Given the description of an element on the screen output the (x, y) to click on. 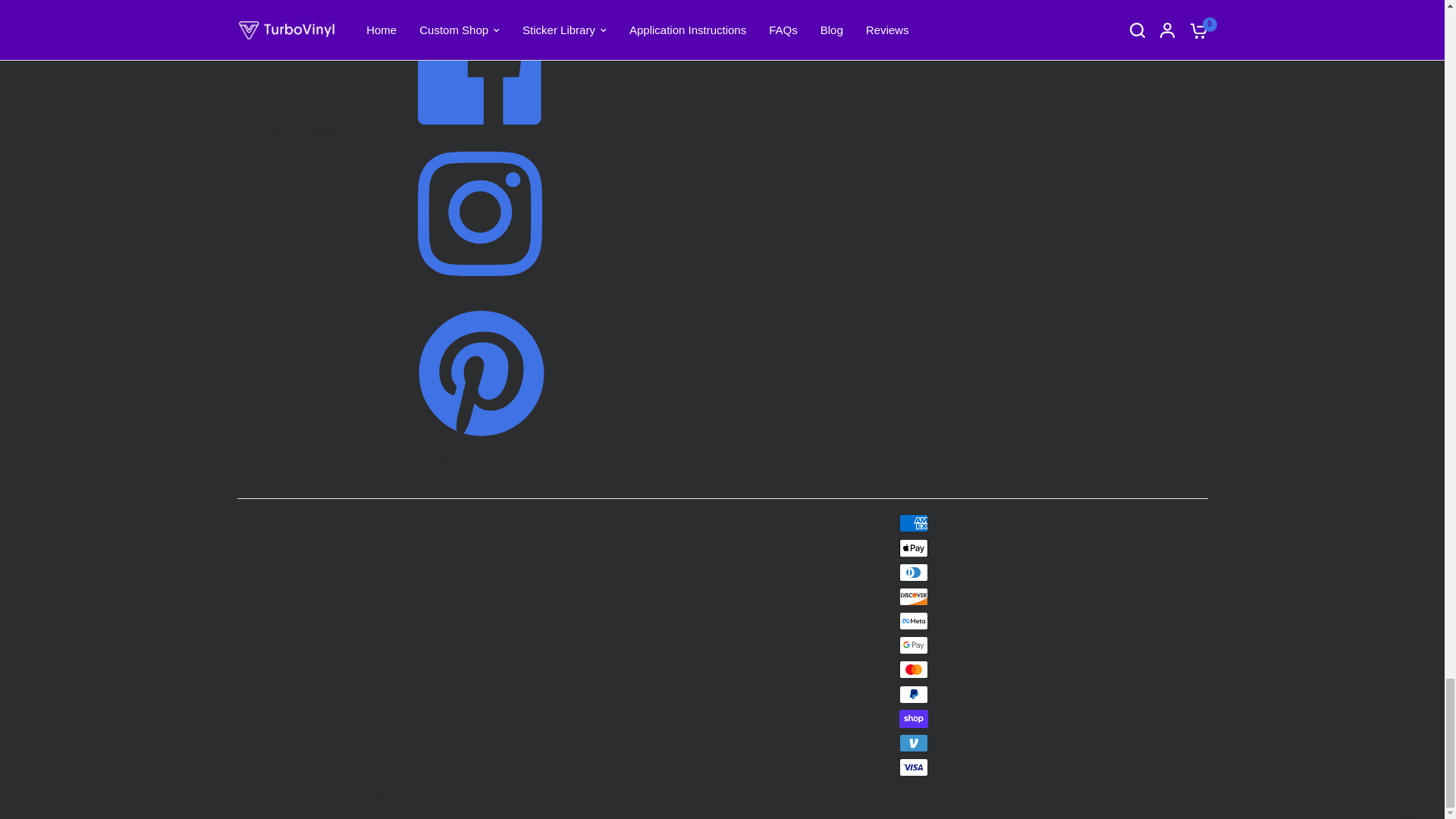
Meta Pay (913, 620)
Apple Pay (913, 547)
American Express (913, 523)
Google Pay (913, 645)
Diners Club (913, 572)
Discover (913, 597)
